Given the description of an element on the screen output the (x, y) to click on. 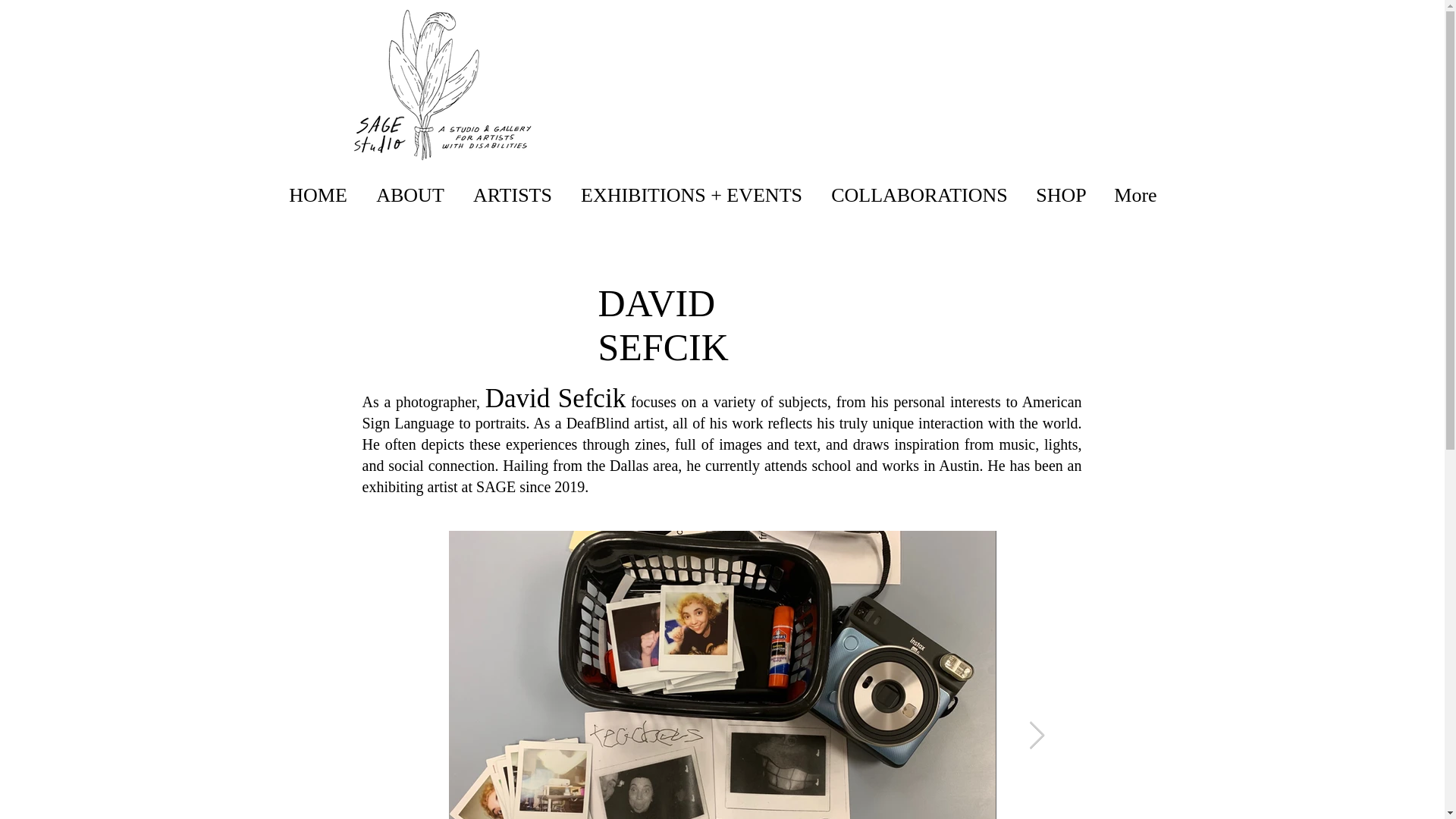
COLLABORATIONS (918, 195)
SHOP (1061, 195)
ABOUT (409, 195)
HOME (318, 195)
ARTISTS (512, 195)
